Given the description of an element on the screen output the (x, y) to click on. 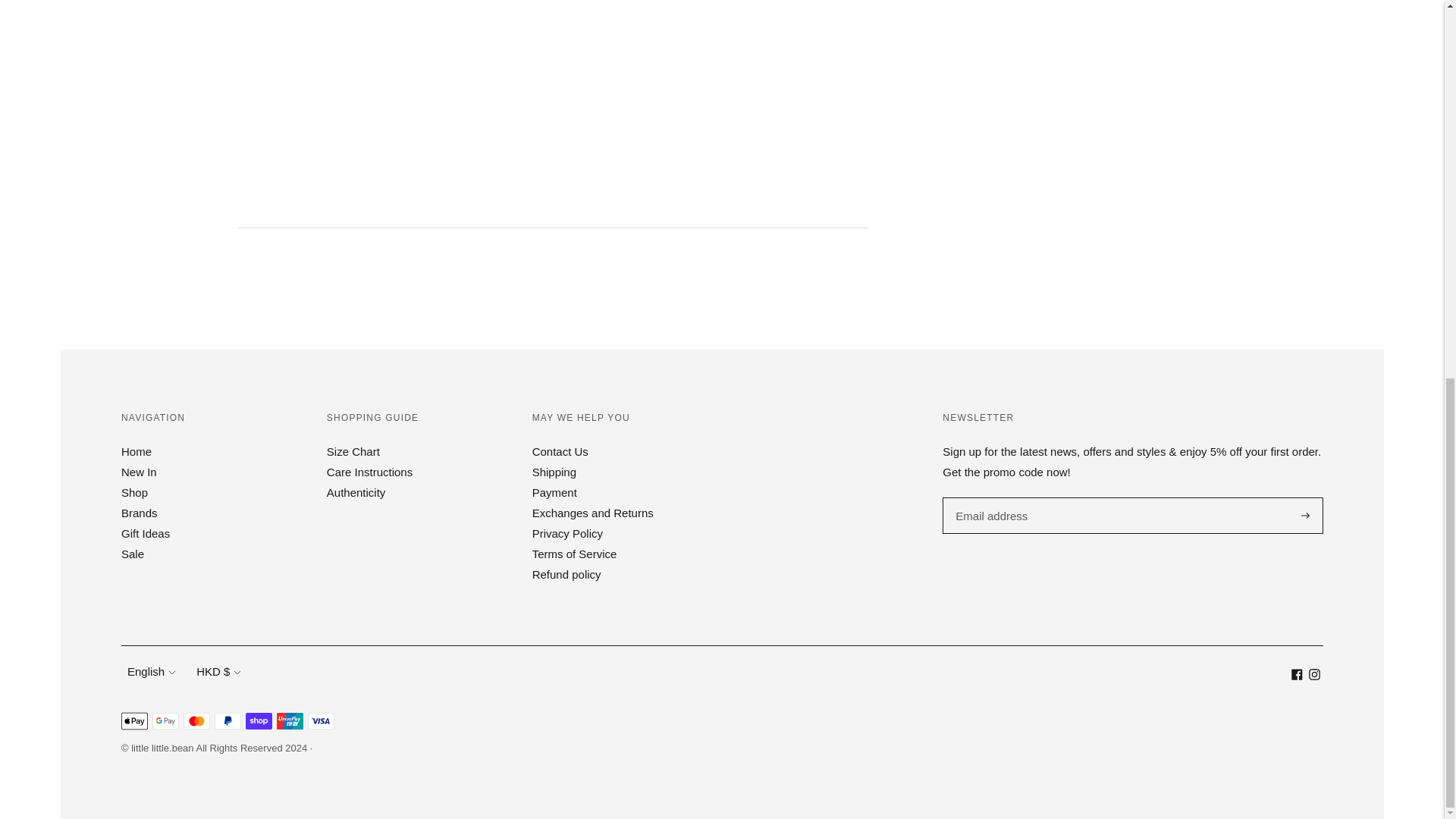
Google Pay (165, 720)
Union Pay (289, 720)
Apple Pay (134, 720)
Visa (320, 720)
Shop Pay (259, 720)
PayPal (227, 720)
Mastercard (196, 720)
